Given the description of an element on the screen output the (x, y) to click on. 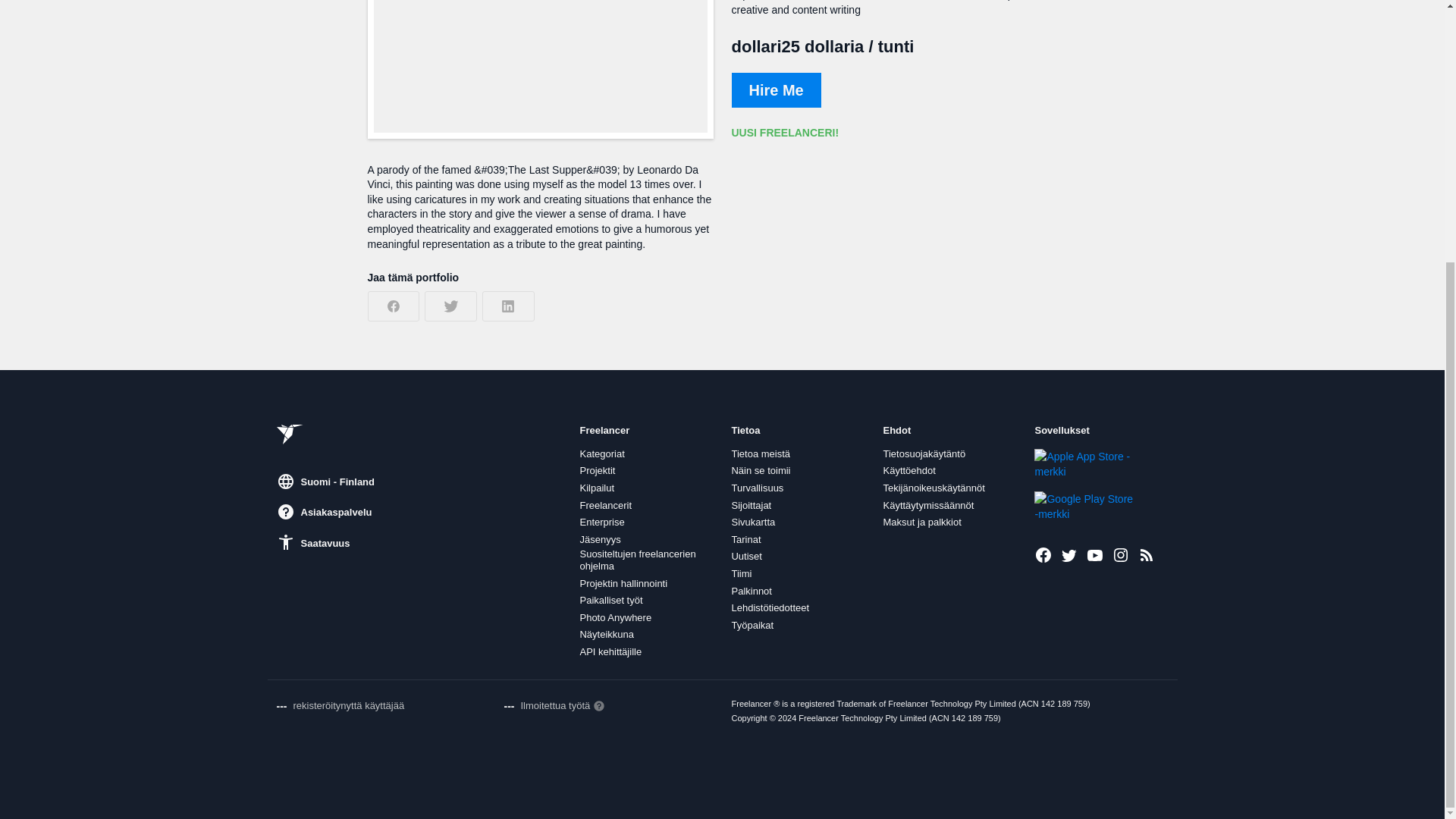
Palkinnot (750, 591)
Photo Anywhere (614, 617)
Suositeltujen freelancerien ohjelma (646, 559)
Freelancer Youtubessa (1094, 555)
Freelancerit (605, 505)
Jaa Facebookissa (392, 306)
Projektin hallinnointi (622, 583)
Enterprise (601, 522)
Projektit (596, 470)
Sivukartta (752, 522)
Turvallisuus (756, 488)
Uutiset (745, 556)
Lataa App Storesta (1085, 463)
Uusimmat projektit (1146, 555)
Tiimi (740, 573)
